Given the description of an element on the screen output the (x, y) to click on. 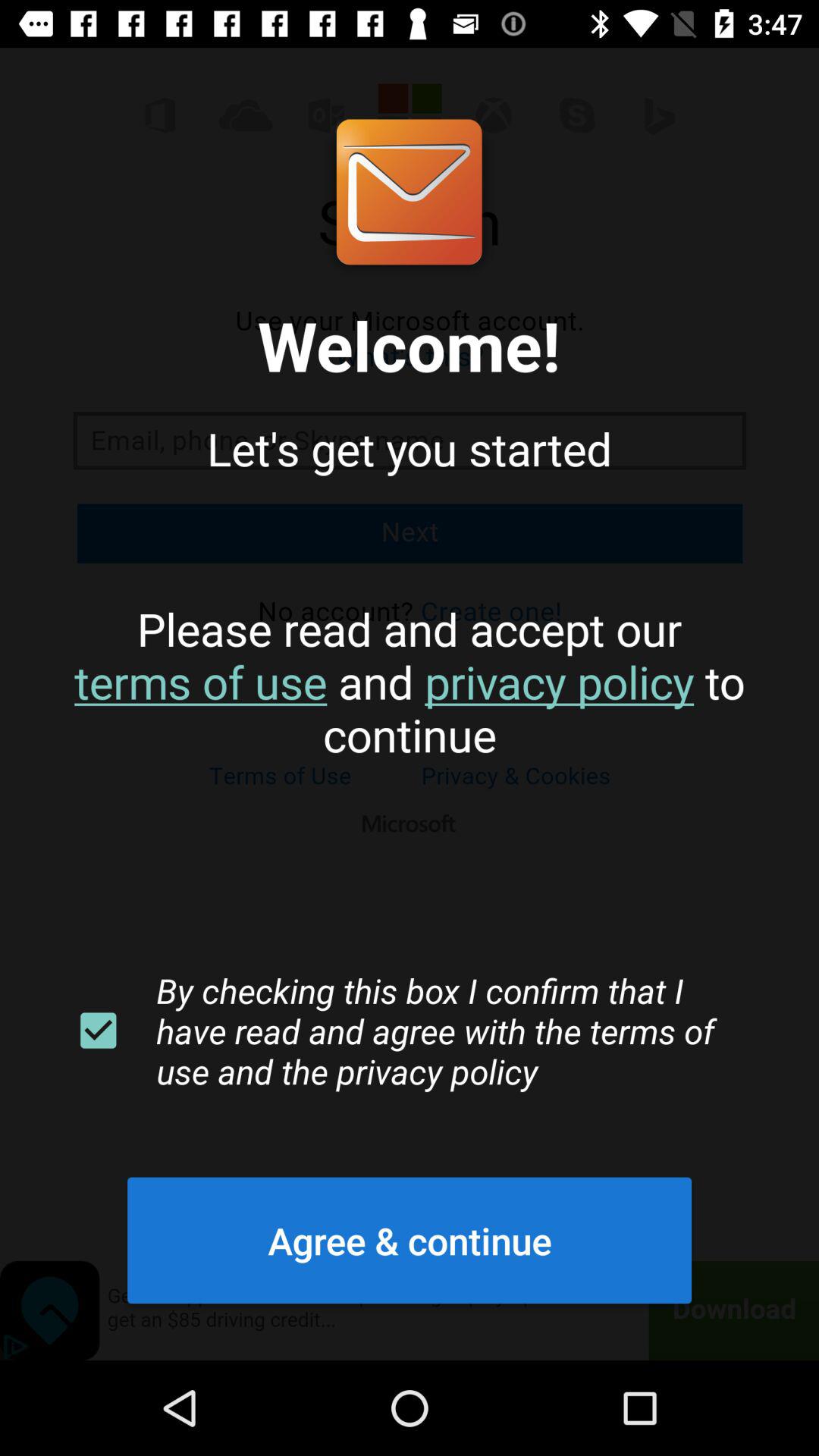
tap agree & continue (409, 1240)
